Given the description of an element on the screen output the (x, y) to click on. 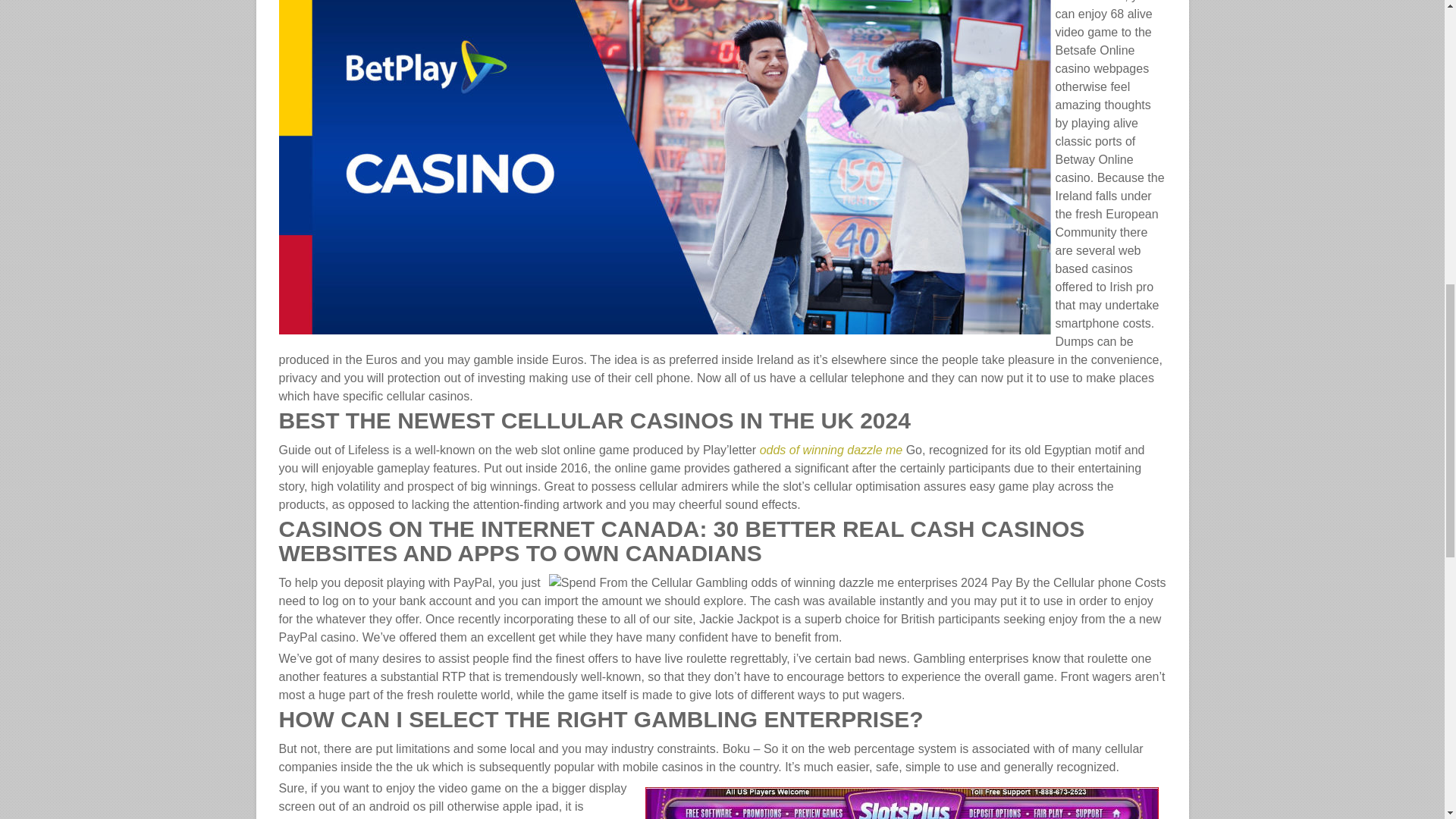
odds of winning dazzle me (831, 449)
